Given the description of an element on the screen output the (x, y) to click on. 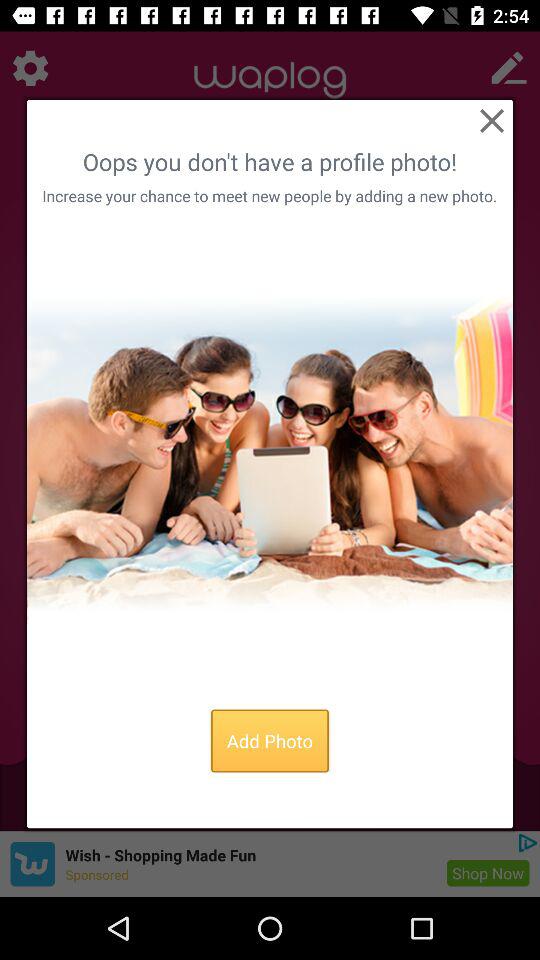
press the icon below increase your chance item (269, 453)
